Given the description of an element on the screen output the (x, y) to click on. 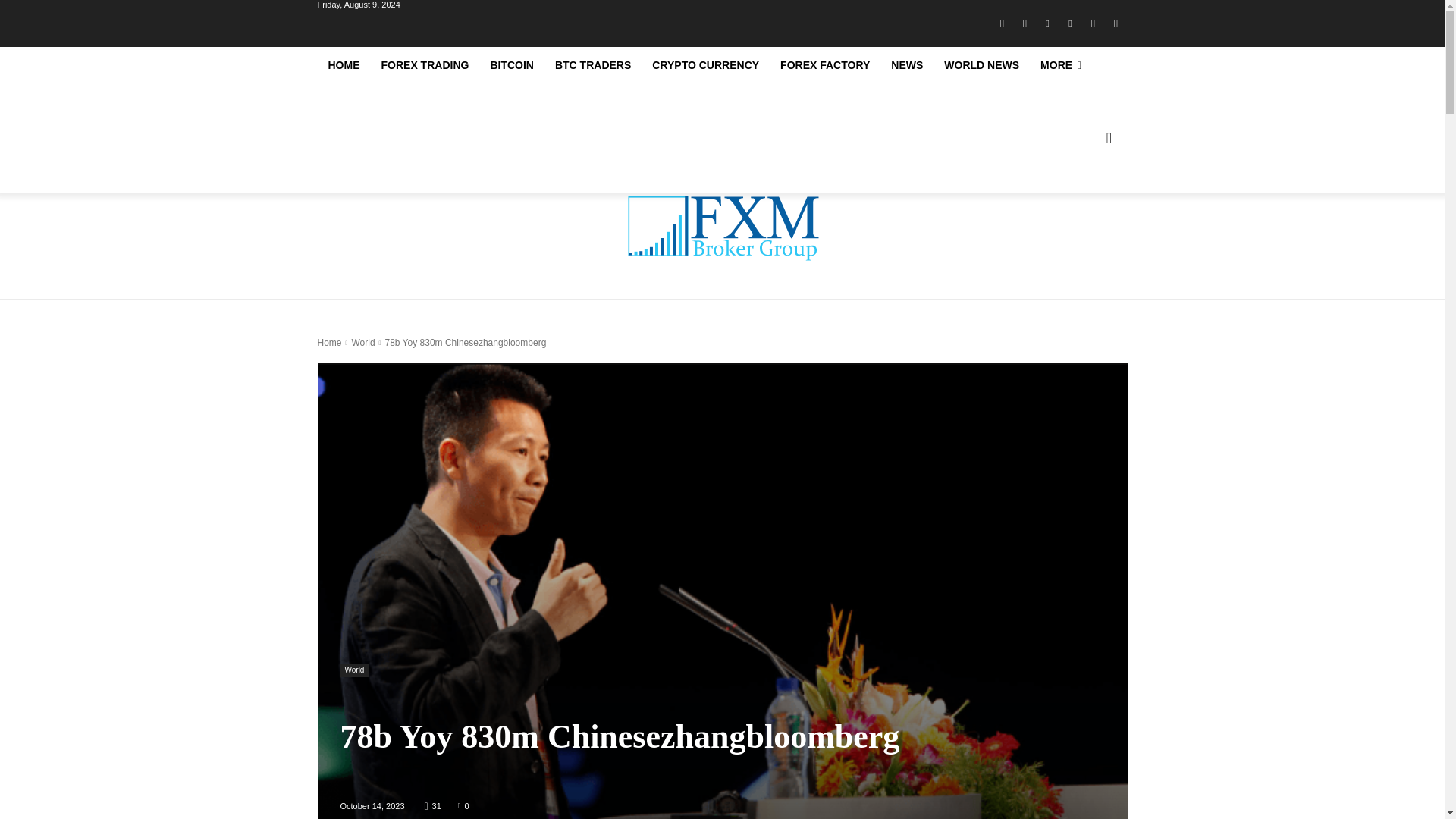
Tumblr (1092, 23)
NEWS (906, 64)
CRYPTO CURRENCY (706, 64)
WORLD NEWS (981, 64)
Facebook (1001, 23)
HOME (343, 64)
FOREX FACTORY (825, 64)
BITCOIN (511, 64)
Linkedin (1046, 23)
FOREX TRADING (424, 64)
